Given the description of an element on the screen output the (x, y) to click on. 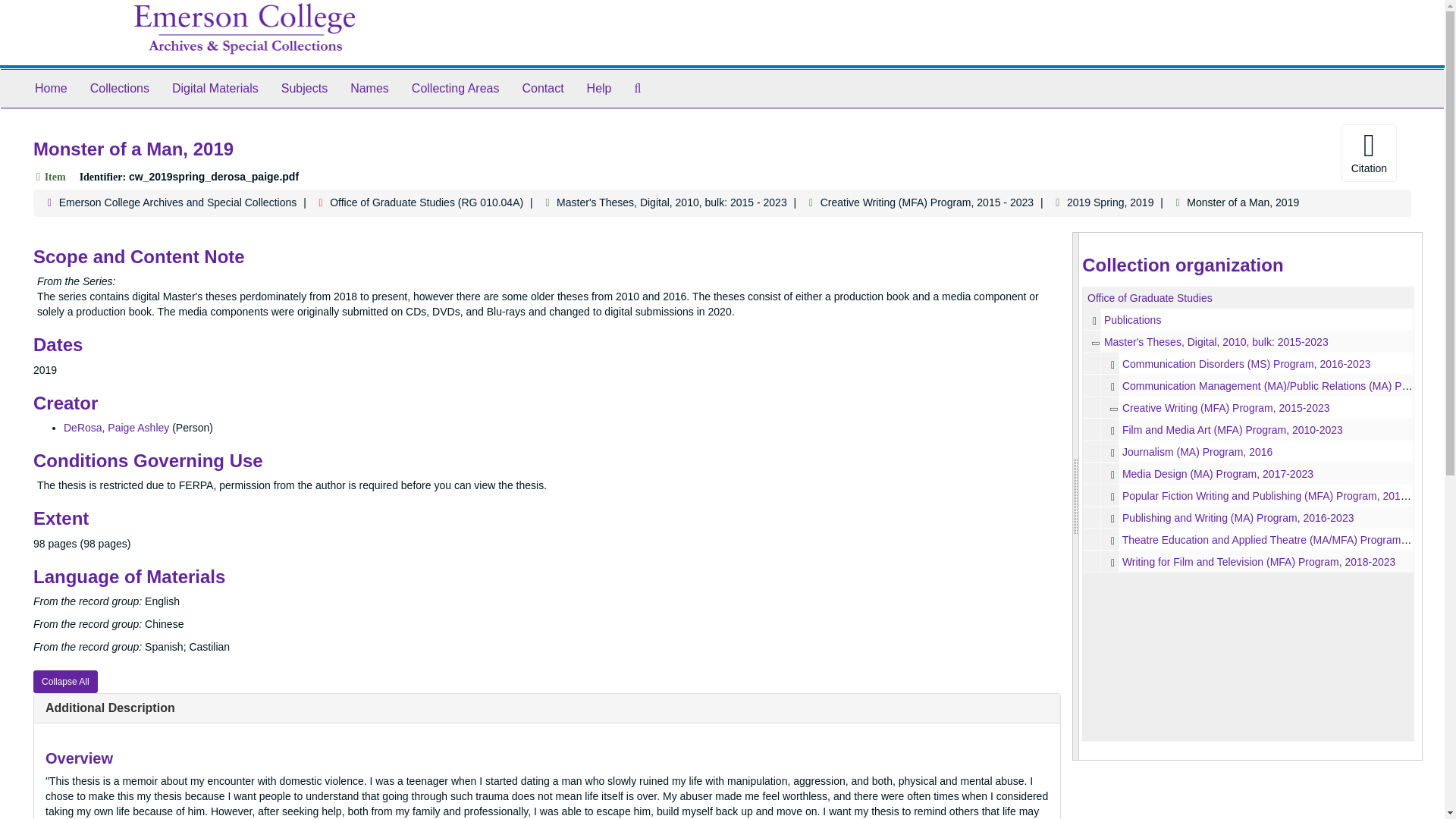
Master's Theses, Digital, 2010, bulk: 2015 - 2023 (671, 202)
Contact (543, 88)
Publications (1132, 319)
translation missing: en.Contact (542, 88)
DeRosa, Paige Ashley (116, 427)
Master's Theses, Digital, 2010, bulk: 2015-2023 (1215, 341)
translation missing: en.Home (50, 88)
Collections (119, 88)
Additional Description (109, 707)
Collecting Areas (455, 88)
